Given the description of an element on the screen output the (x, y) to click on. 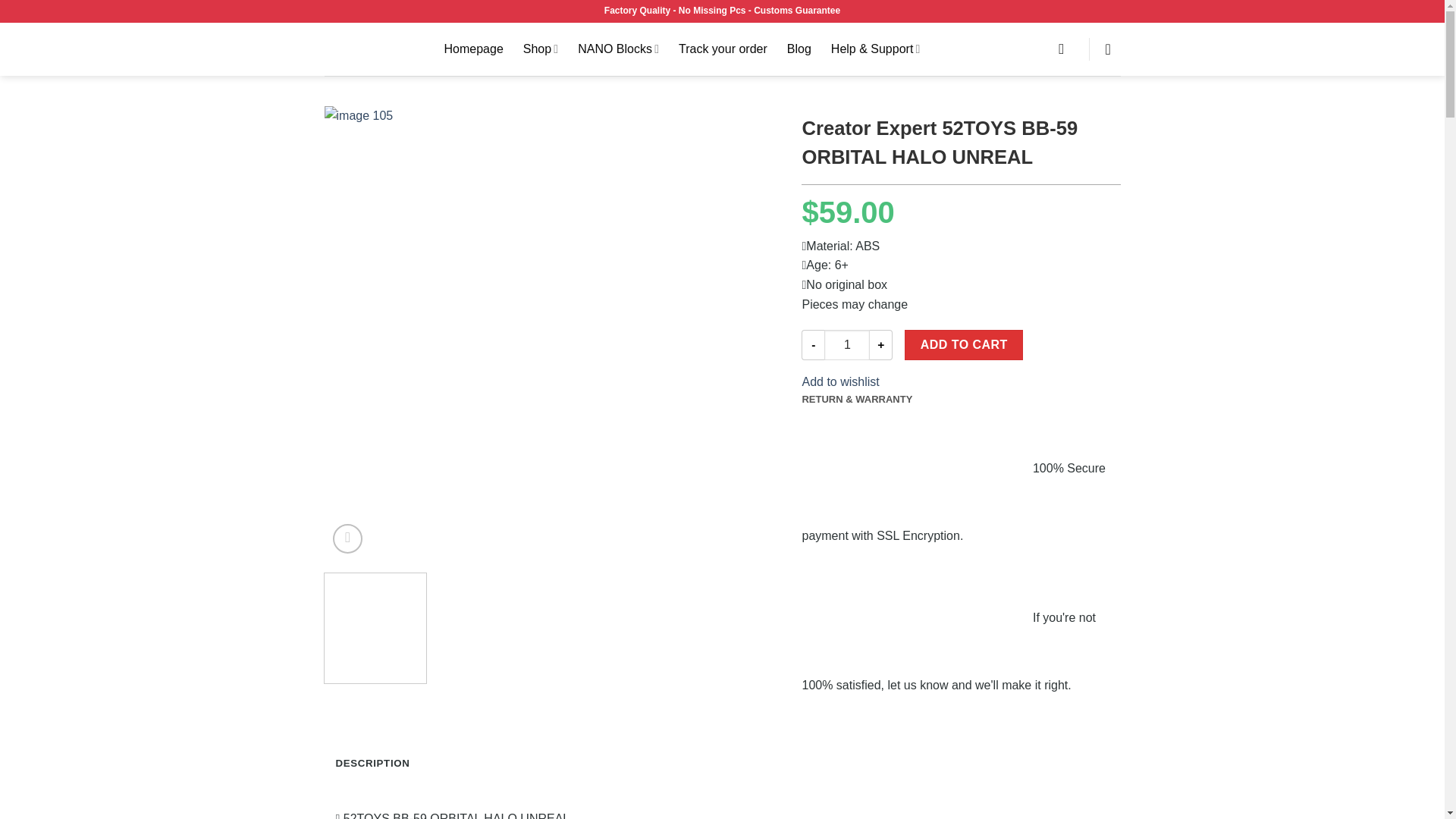
Creator Expert 52TOYS BB-59 ORBITAL HALO UNREAL 2 (610, 630)
1 (846, 345)
Shop (539, 48)
Cart (1113, 49)
Homepage (473, 49)
- (813, 345)
Zoom (347, 538)
Track your order (722, 49)
NANO Blocks (618, 48)
Creator Expert 52TOYS BB-59 ORBITAL HALO UNREAL 1 (492, 630)
Blog (798, 49)
52TOYS-Beastbox-BB-59-ORBITAL-HALO-UNREAL-4.jpg (1005, 248)
